Given the description of an element on the screen output the (x, y) to click on. 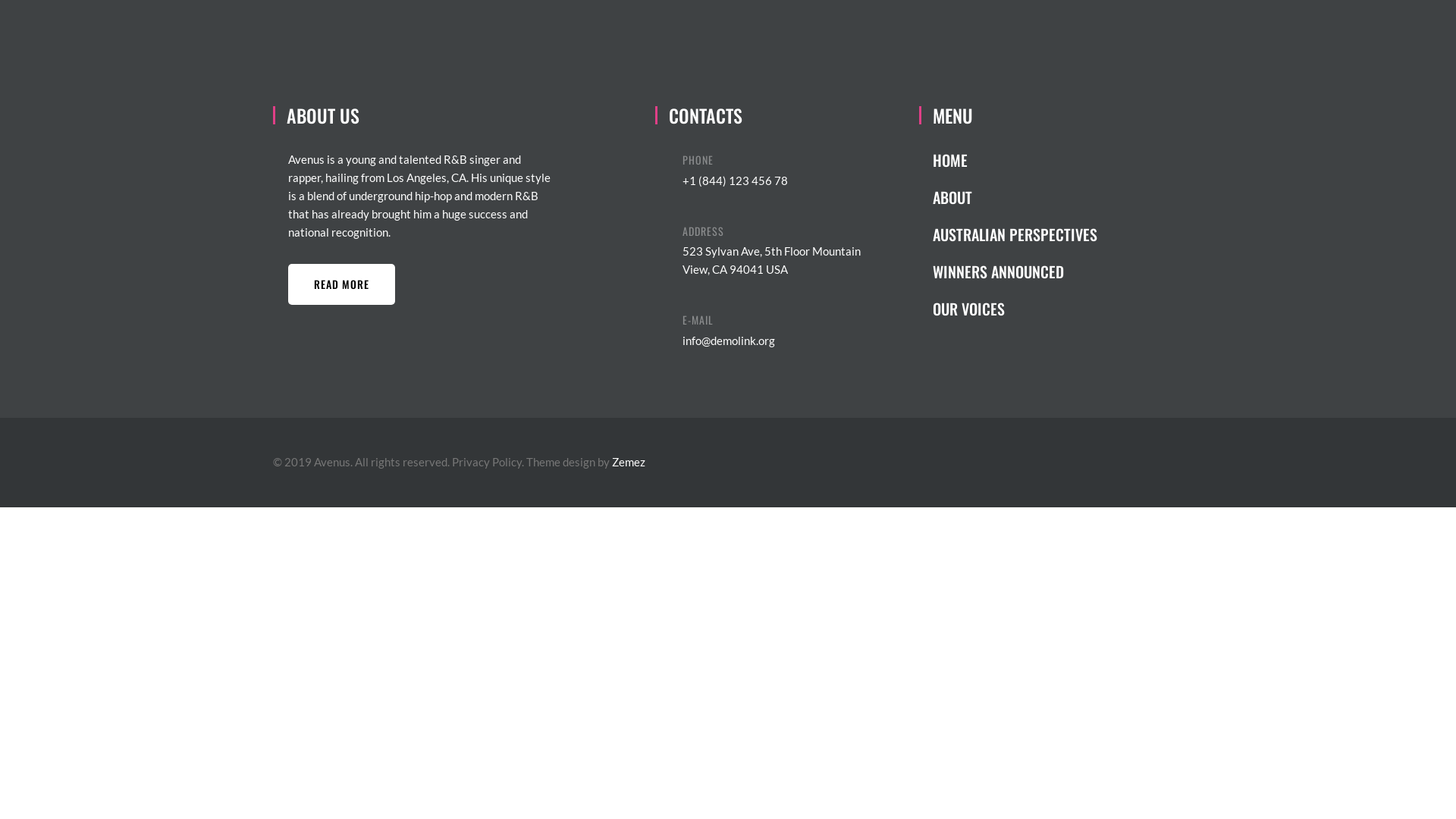
info@demolink.org Element type: text (728, 340)
WINNERS ANNOUNCED Element type: text (1014, 278)
OUR VOICES Element type: text (1014, 315)
READ MORE Element type: text (341, 283)
HOME Element type: text (1014, 167)
AUSTRALIAN PERSPECTIVES Element type: text (1014, 241)
Zemez Element type: text (628, 461)
+1 (844) 123 456 78 Element type: text (734, 180)
ABOUT Element type: text (1014, 204)
